Given the description of an element on the screen output the (x, y) to click on. 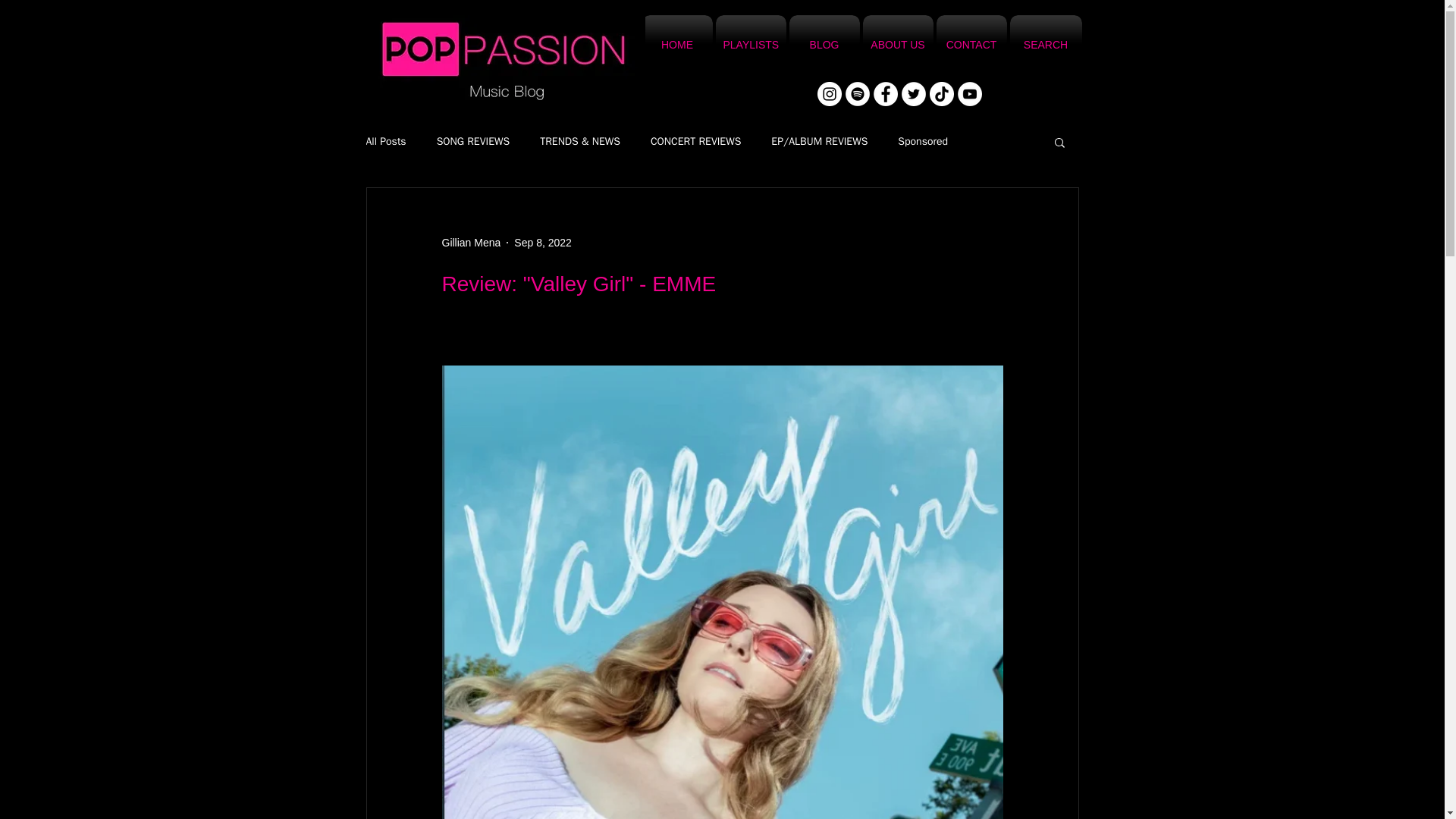
ABOUT US (897, 44)
Sponsored (922, 141)
SONG REVIEWS (473, 141)
Gillian Mena (470, 242)
Sep 8, 2022 (542, 242)
PLAYLISTS (750, 44)
All Posts (385, 141)
CONTACT (970, 44)
SEARCH (1045, 44)
CONCERT REVIEWS (695, 141)
BLOG (823, 44)
HOME (676, 44)
